Given the description of an element on the screen output the (x, y) to click on. 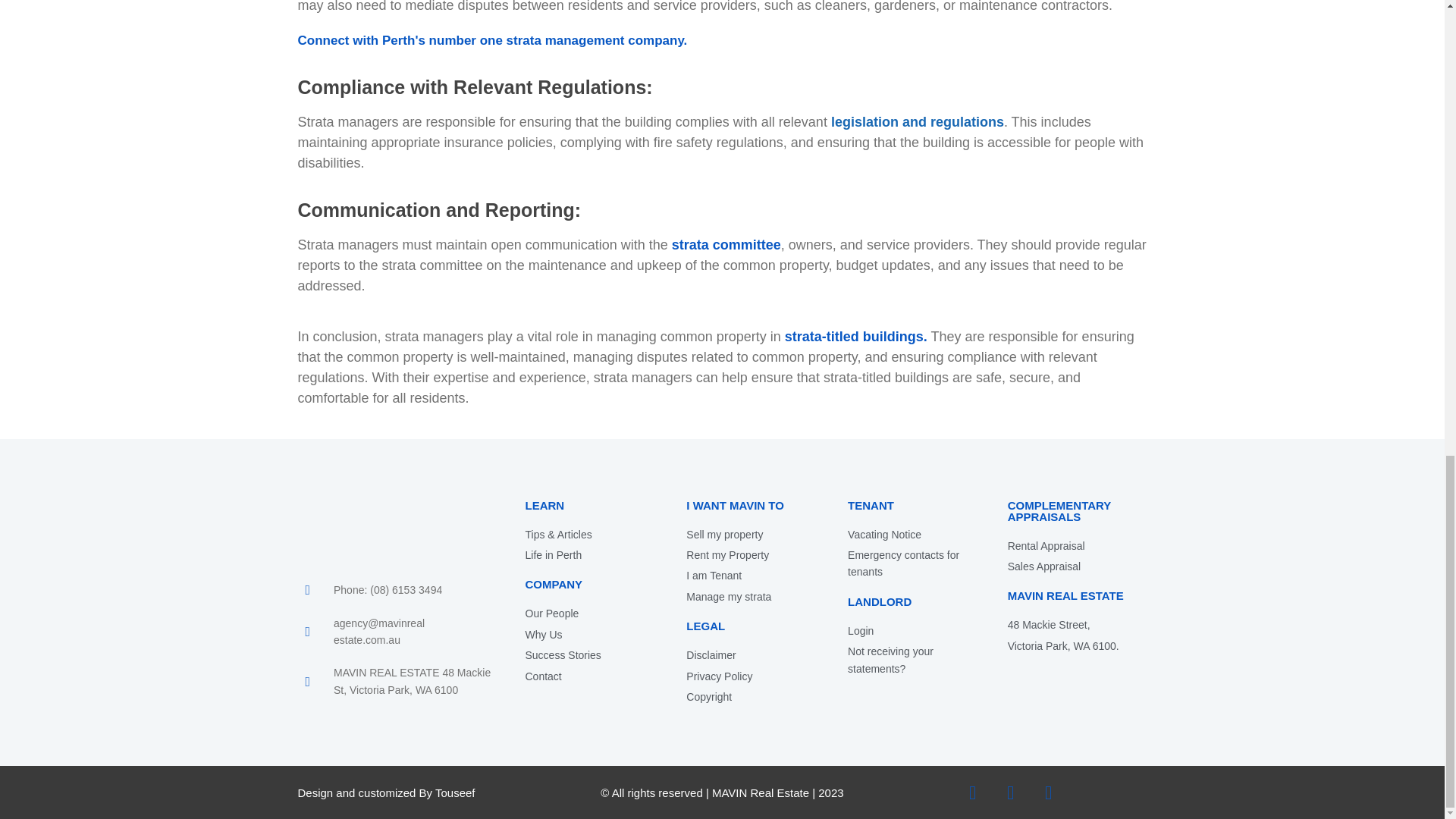
Rent my Property (750, 555)
Disclaimer (750, 655)
Privacy Policy (750, 676)
Success Stories (590, 655)
Our People (590, 613)
legislation and regulations (917, 121)
Copyright (750, 696)
Contact (590, 676)
Sell my property (750, 534)
Manage my strata (750, 596)
strata-titled buildings. (855, 336)
Connect with Perth's number one strata management company. (492, 40)
Life in Perth (590, 555)
I am Tenant (750, 575)
Why Us (590, 634)
